Given the description of an element on the screen output the (x, y) to click on. 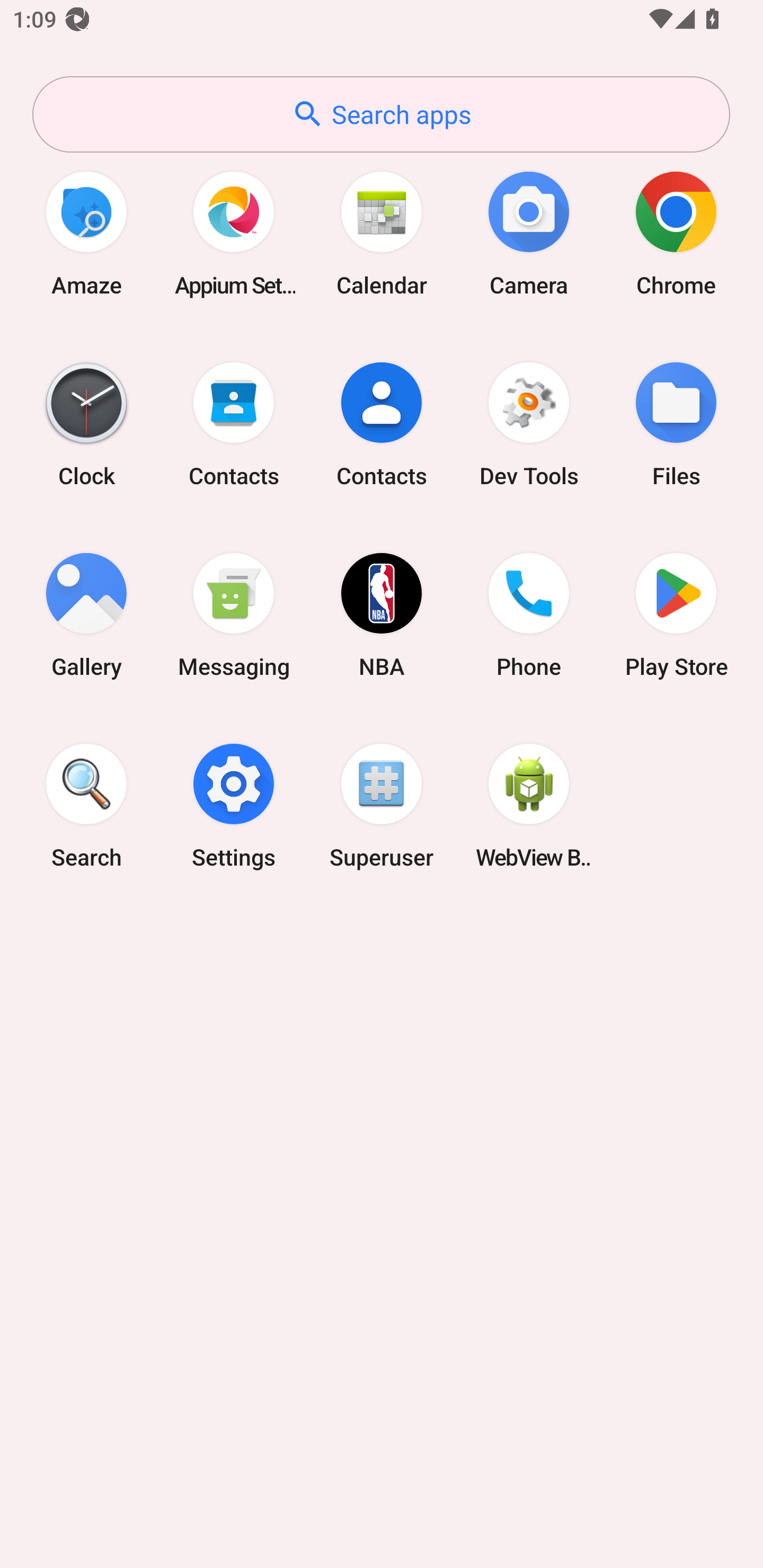
  Search apps (381, 114)
Amaze (86, 233)
Appium Settings (233, 233)
Calendar (381, 233)
Camera (528, 233)
Chrome (676, 233)
Clock (86, 424)
Contacts (233, 424)
Contacts (381, 424)
Dev Tools (528, 424)
Files (676, 424)
Gallery (86, 614)
Messaging (233, 614)
NBA (381, 614)
Phone (528, 614)
Play Store (676, 614)
Search (86, 805)
Settings (233, 805)
Superuser (381, 805)
WebView Browser Tester (528, 805)
